Given the description of an element on the screen output the (x, y) to click on. 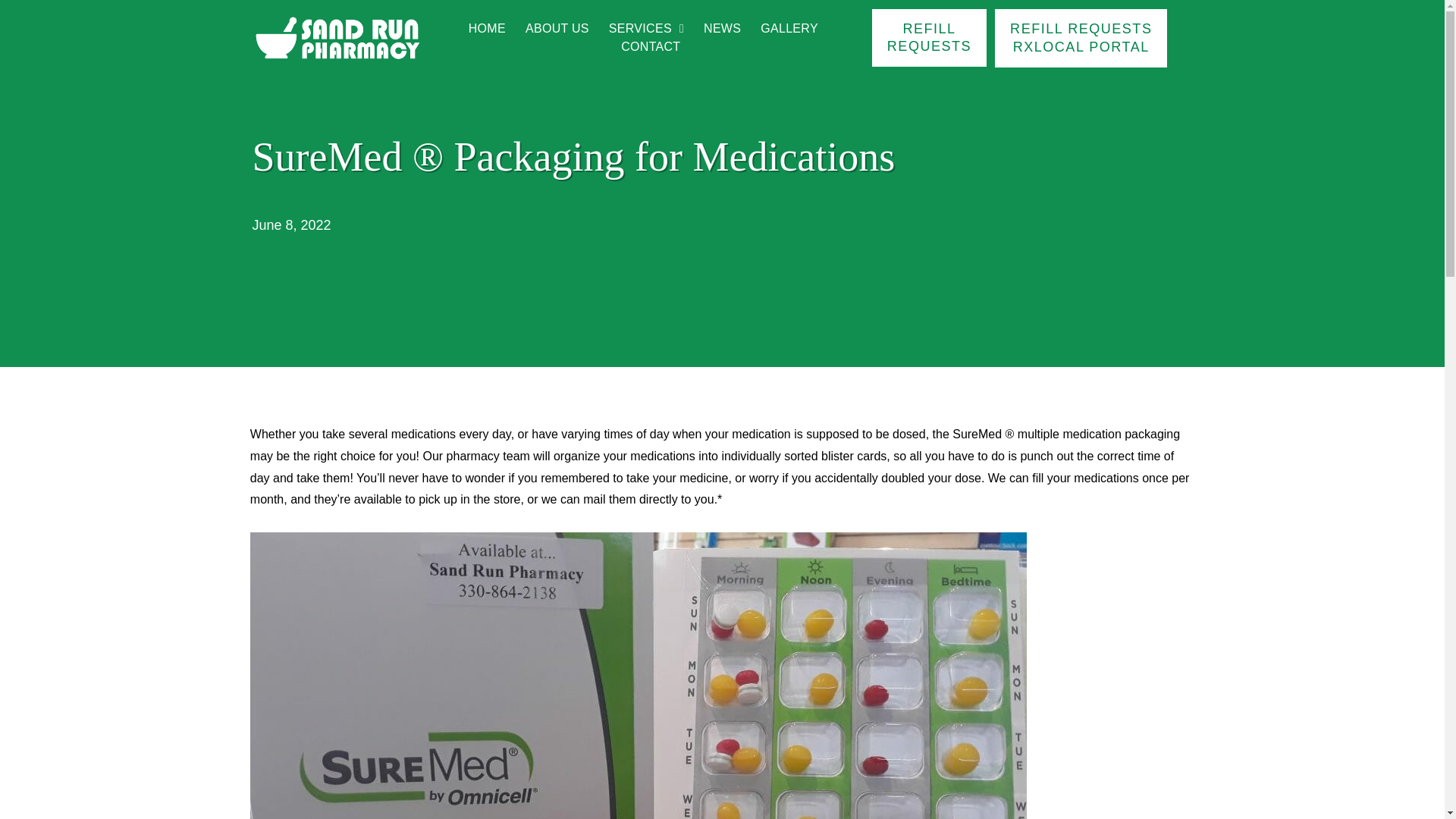
ABOUT US (556, 28)
HOME (486, 28)
SERVICES (646, 28)
